Given the description of an element on the screen output the (x, y) to click on. 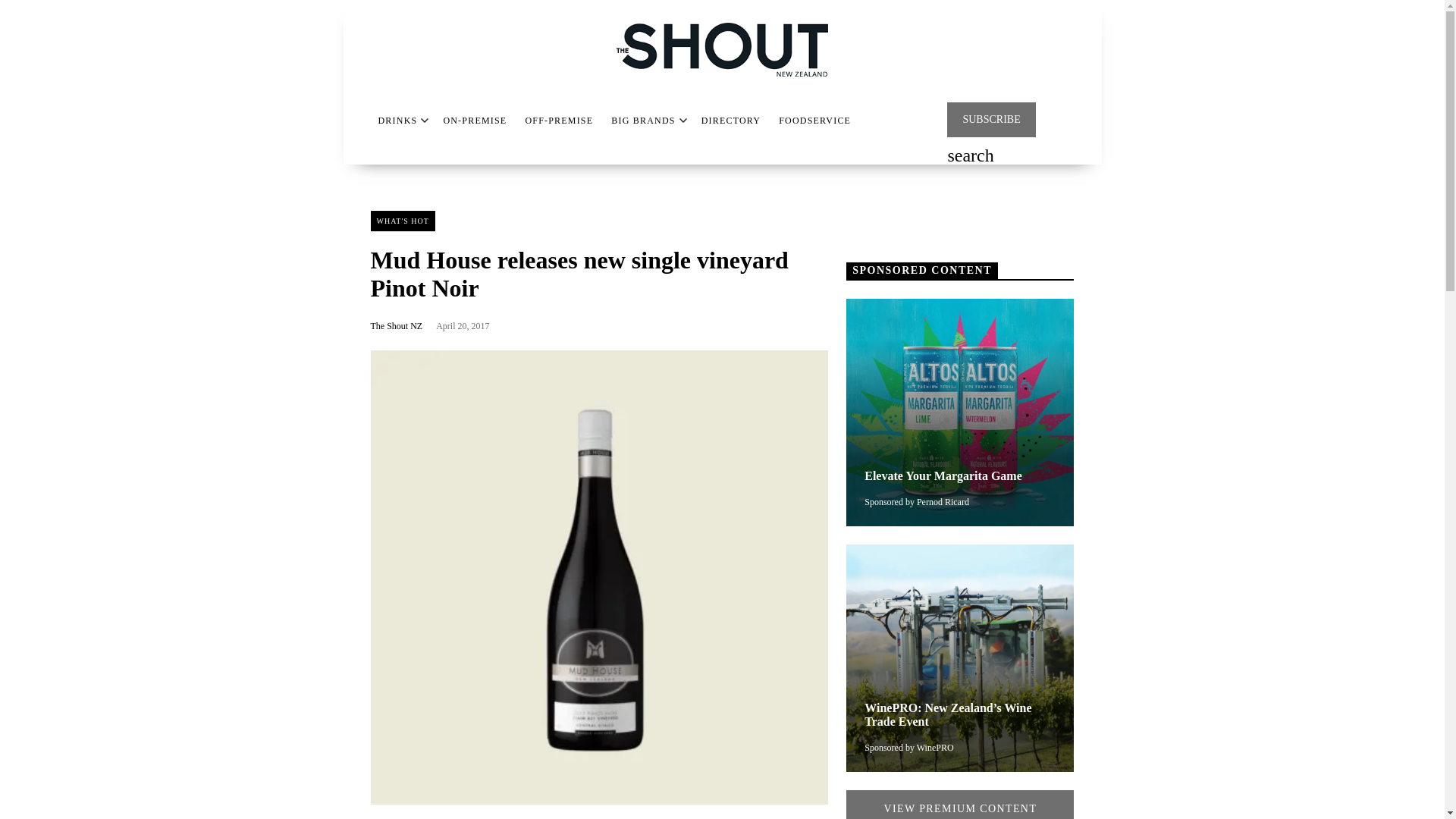
ON-PREMISE (474, 120)
SUBSCRIBE (991, 119)
OFF-PREMISE (558, 120)
DIRECTORY (731, 120)
BIG BRANDS (643, 120)
search (969, 156)
FOODSERVICE (814, 120)
DRINKS (396, 120)
